Given the description of an element on the screen output the (x, y) to click on. 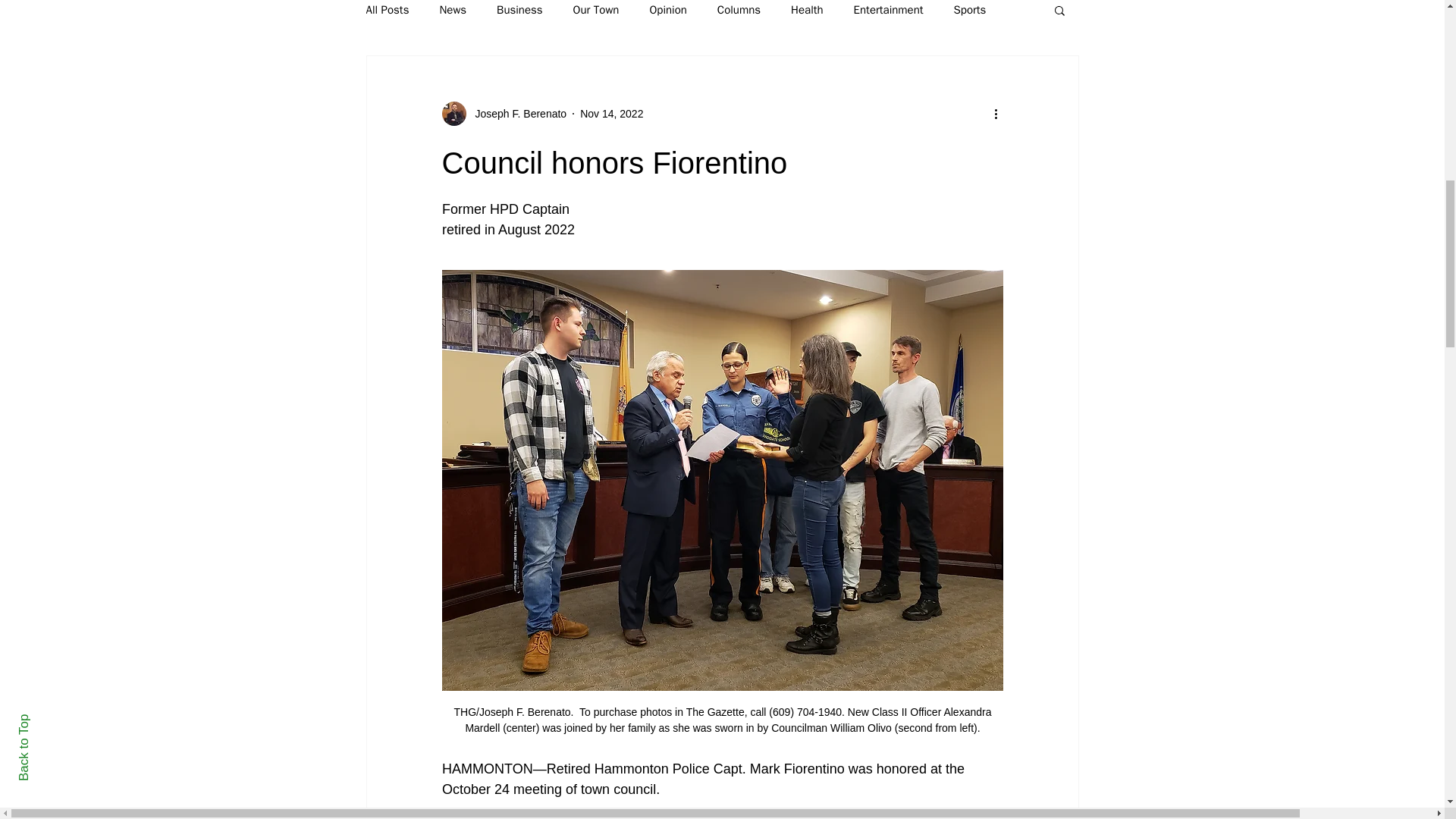
Nov 14, 2022 (611, 113)
Joseph F. Berenato (515, 114)
